Given the description of an element on the screen output the (x, y) to click on. 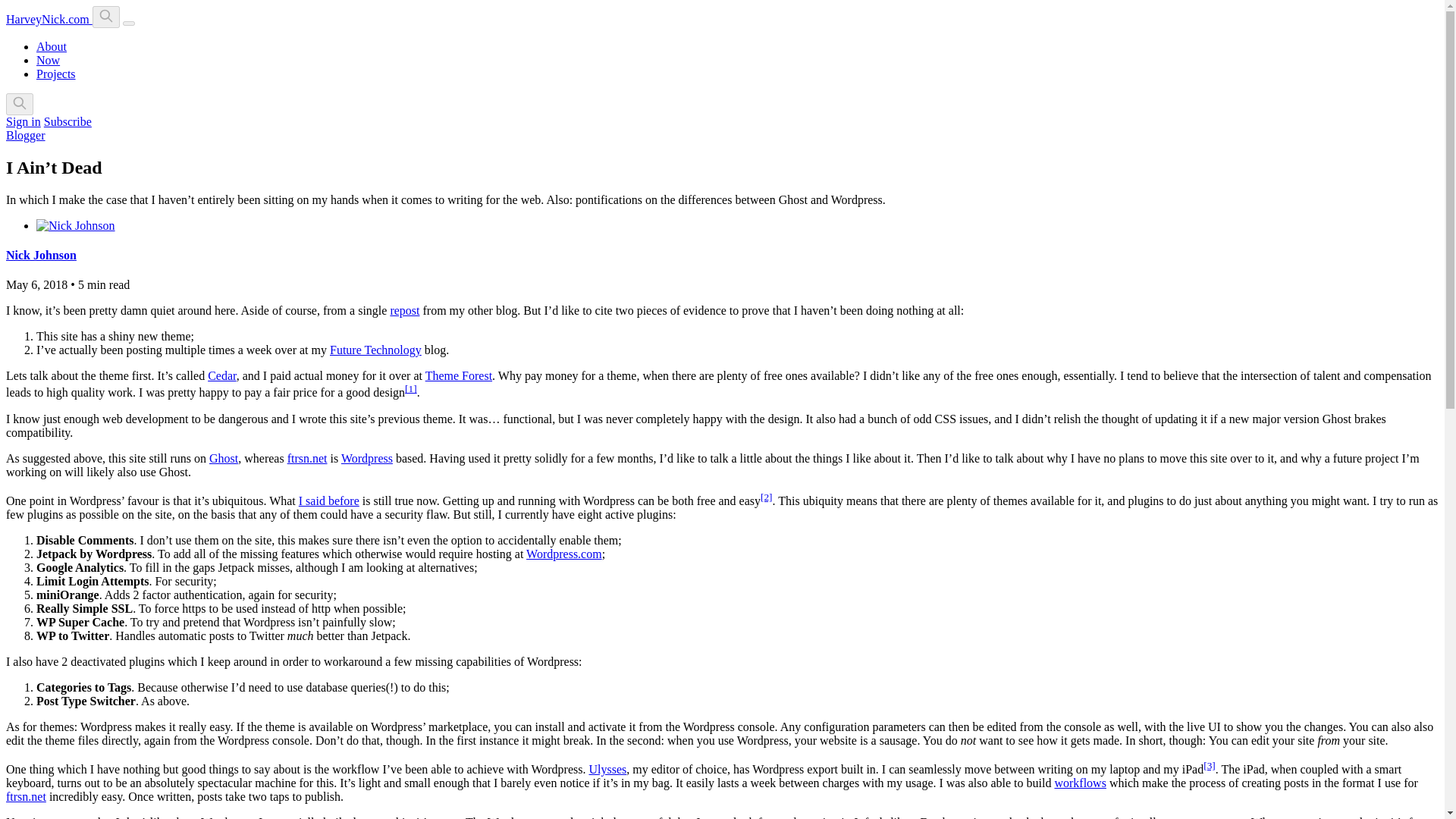
Wordpress (366, 458)
Future Technology (376, 349)
Ulysses (607, 768)
Ghost (223, 458)
repost (404, 309)
ftrsn.net (306, 458)
Cedar (221, 375)
Blogger (25, 134)
HarveyNick.com (49, 19)
workflows (1079, 782)
I said before (328, 500)
Now (47, 60)
About (51, 46)
Projects (55, 73)
Wordpress.com (563, 553)
